Given the description of an element on the screen output the (x, y) to click on. 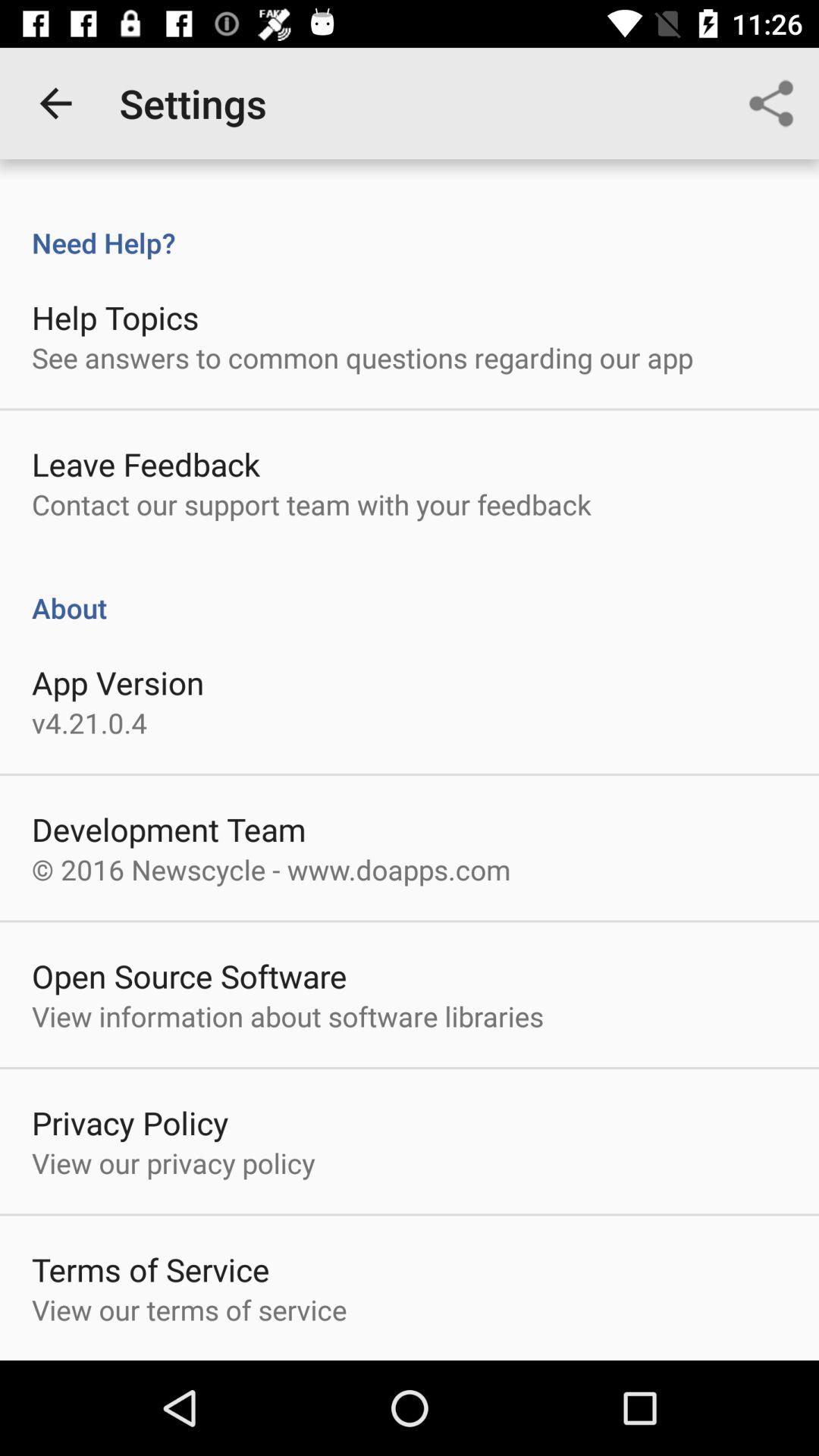
swipe until need help? icon (409, 226)
